Given the description of an element on the screen output the (x, y) to click on. 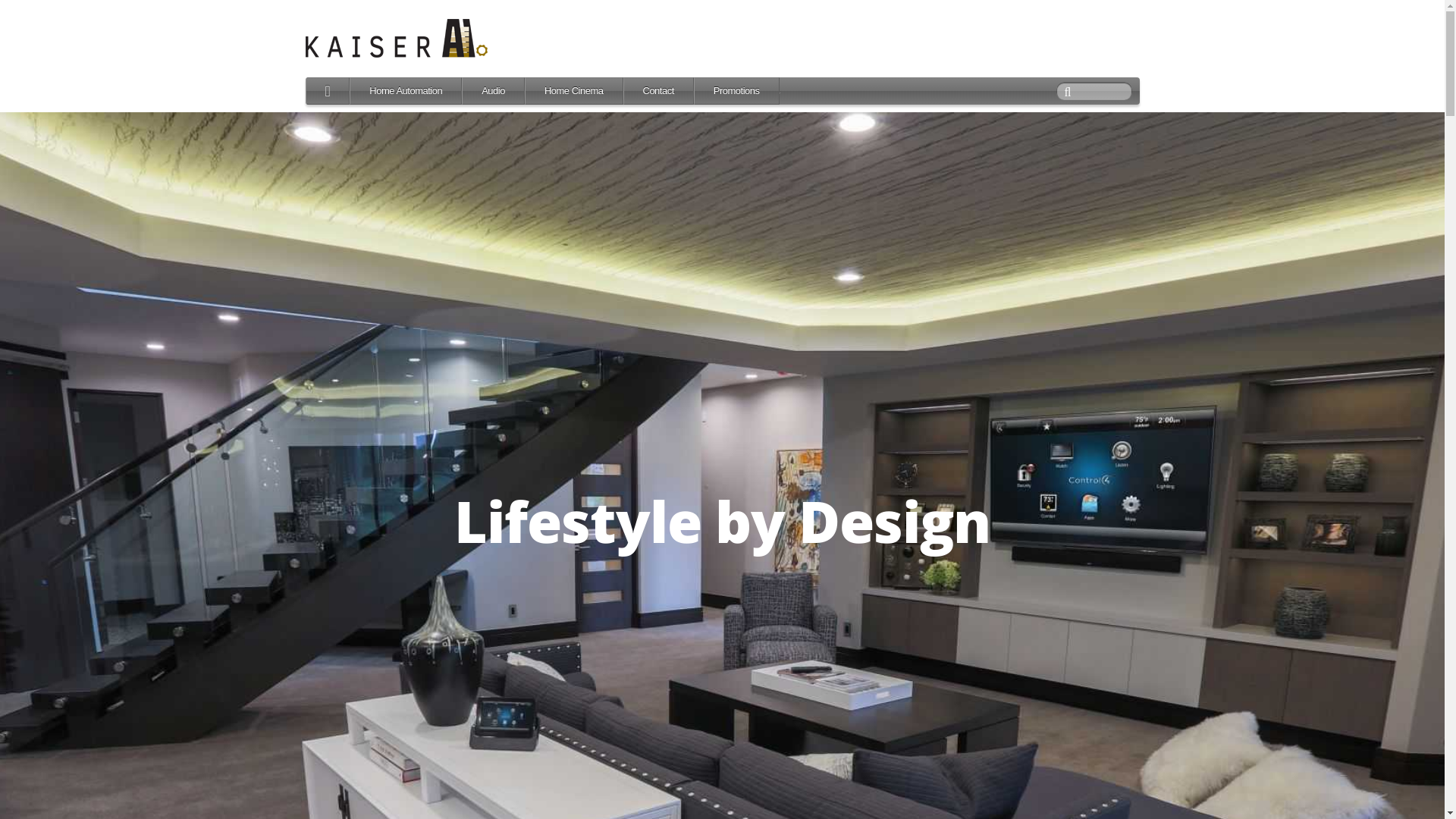
Kaiser AI Element type: hover (395, 38)
Promotions Element type: text (736, 90)
Contact Element type: text (657, 90)
Home Automation Element type: text (405, 90)
Home Cinema Element type: text (573, 90)
Kaiser AI Element type: hover (327, 90)
Audio Element type: text (493, 90)
